Given the description of an element on the screen output the (x, y) to click on. 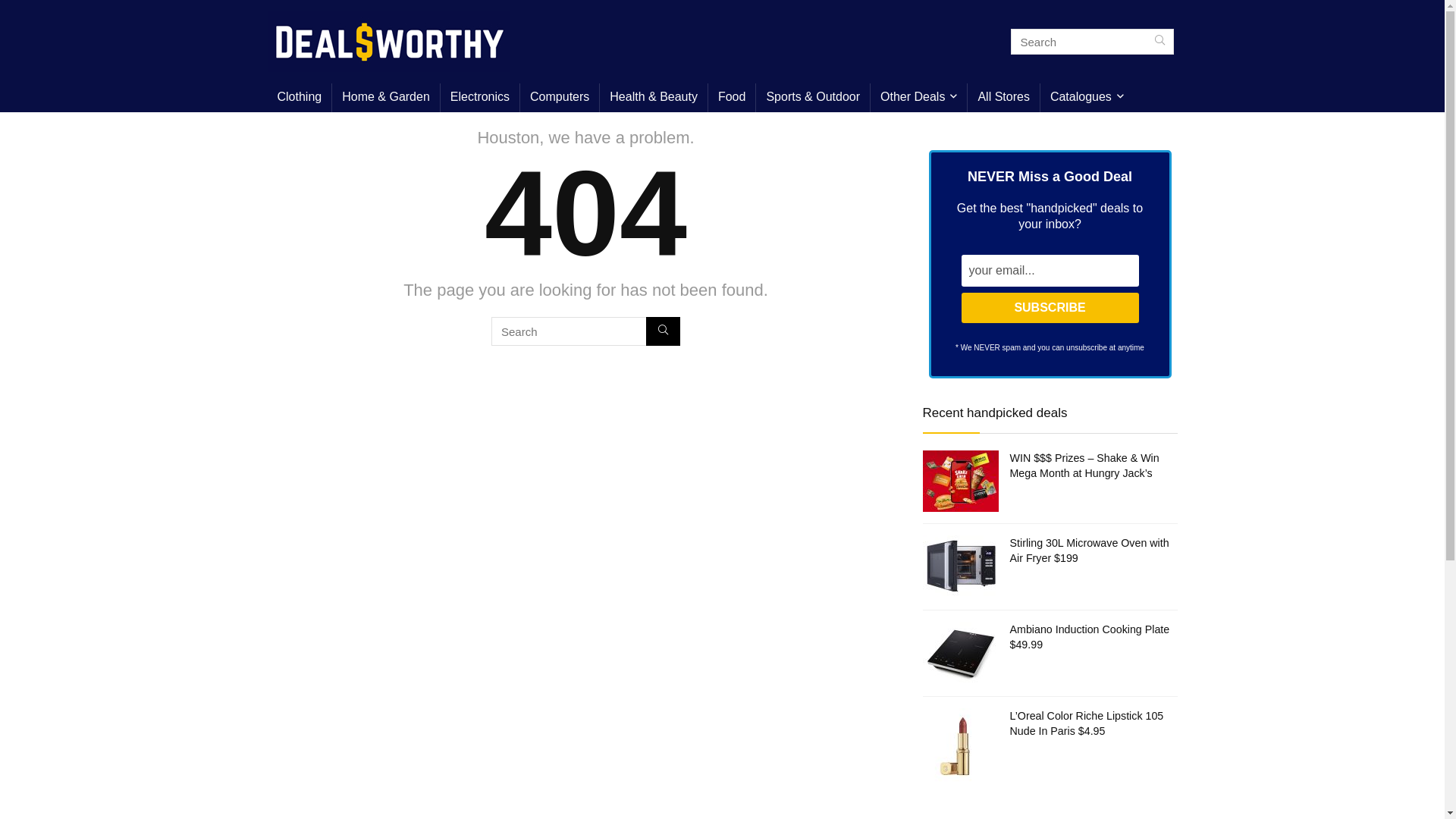
Clothing Element type: text (298, 97)
Catalogues Element type: text (1086, 97)
Computers Element type: text (559, 97)
Home & Garden Element type: text (385, 97)
Other Deals Element type: text (918, 97)
Food Element type: text (731, 97)
Ambiano Induction Cooking Plate $49.99 Element type: text (1090, 636)
Take Action Now! Element type: text (119, 15)
Sports & Outdoor Element type: text (812, 97)
Stirling 30L Microwave Oven with Air Fryer $199 Element type: text (1089, 550)
Health & Beauty Element type: text (653, 97)
Electronics Element type: text (479, 97)
All Stores Element type: text (1002, 97)
Subscribe Element type: text (1050, 307)
